Given the description of an element on the screen output the (x, y) to click on. 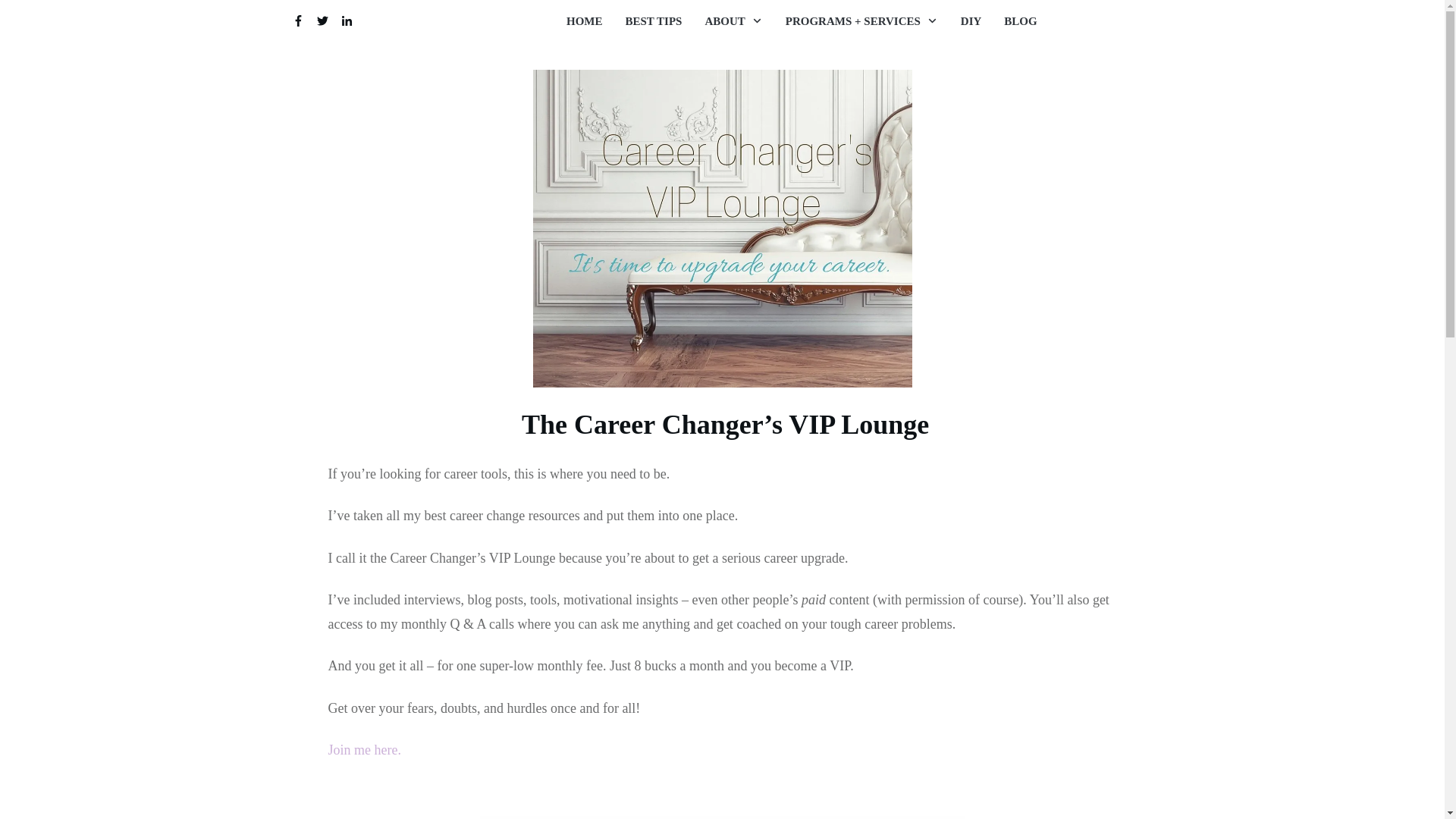
HOME (584, 20)
DIY (970, 20)
BLOG (1020, 20)
Join me here.  (365, 749)
BEST TIPS (652, 20)
ABOUT (732, 20)
